Given the description of an element on the screen output the (x, y) to click on. 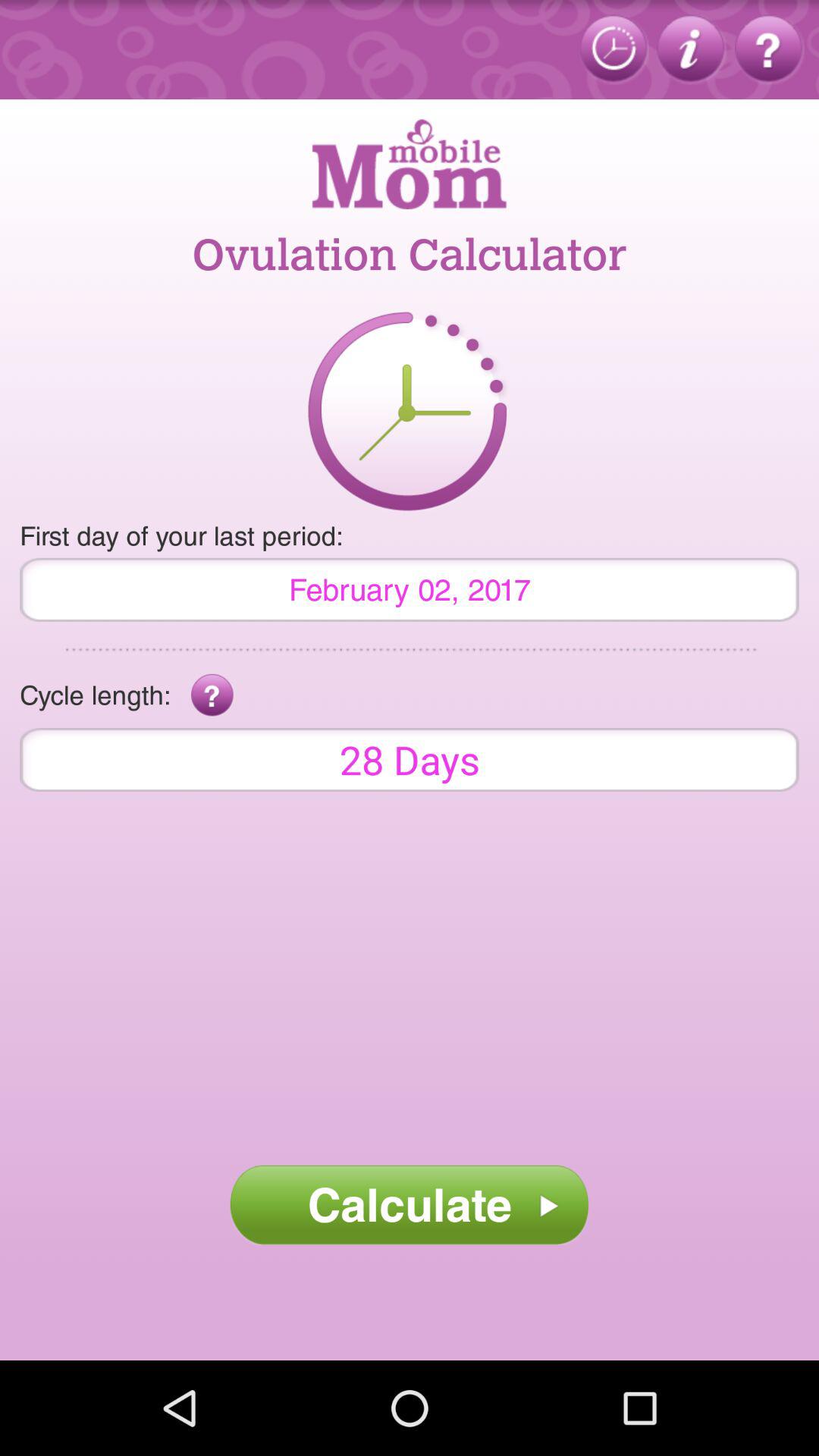
turn on the item below the calculate item (409, 1310)
